Given the description of an element on the screen output the (x, y) to click on. 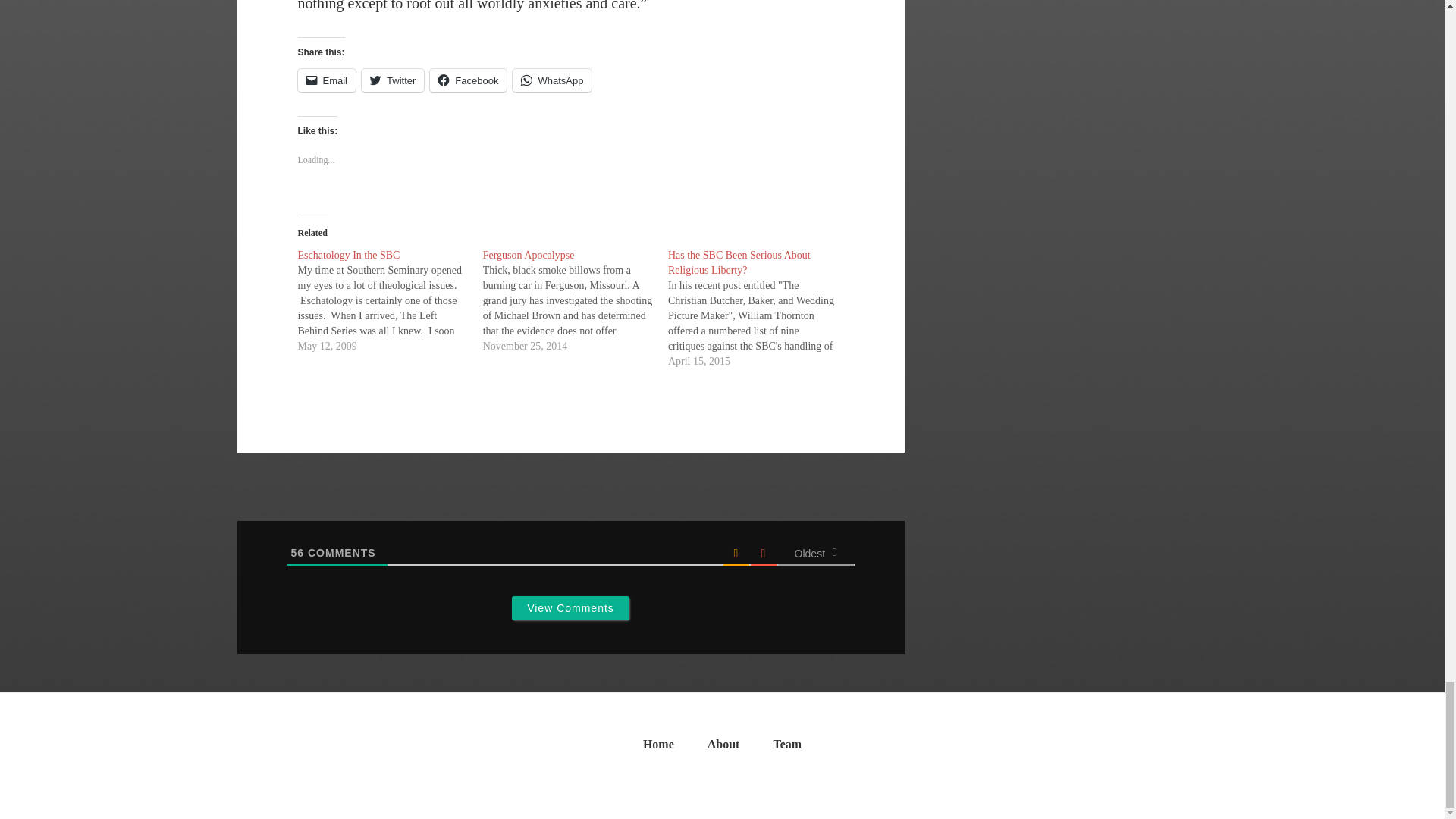
Click to email a link to a friend (326, 79)
Ferguson Apocalypse (529, 255)
Twitter (392, 79)
Eschatology In the SBC (347, 255)
Has the SBC Been Serious About Religious Liberty? (739, 262)
WhatsApp (551, 79)
Facebook (467, 79)
Team (786, 748)
Click to share on Facebook (467, 79)
Ferguson Apocalypse (529, 255)
